Given the description of an element on the screen output the (x, y) to click on. 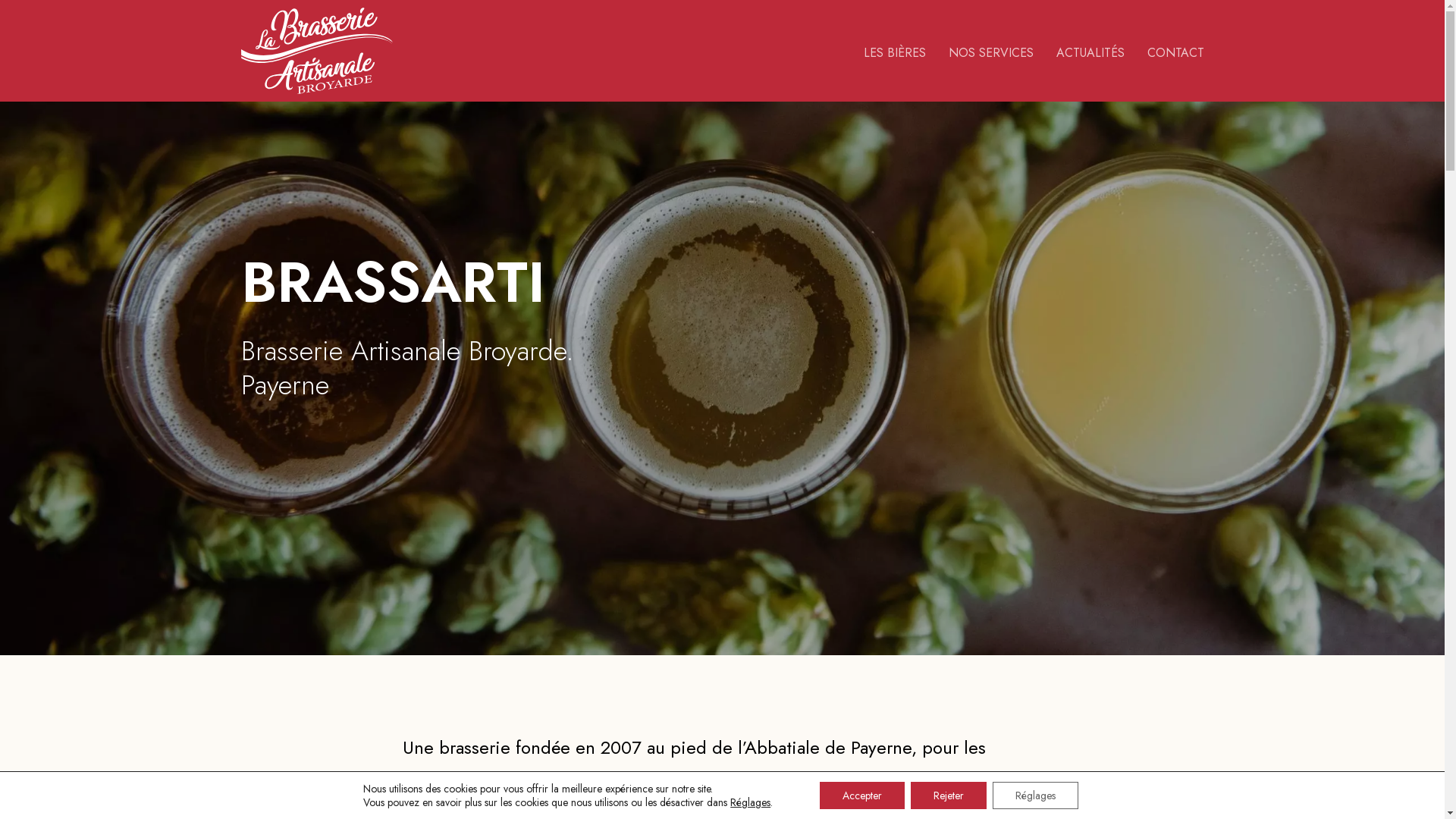
Rejeter Element type: text (948, 795)
CONTACT Element type: text (1174, 52)
NOS SERVICES Element type: text (989, 52)
Accepter Element type: text (861, 795)
